Given the description of an element on the screen output the (x, y) to click on. 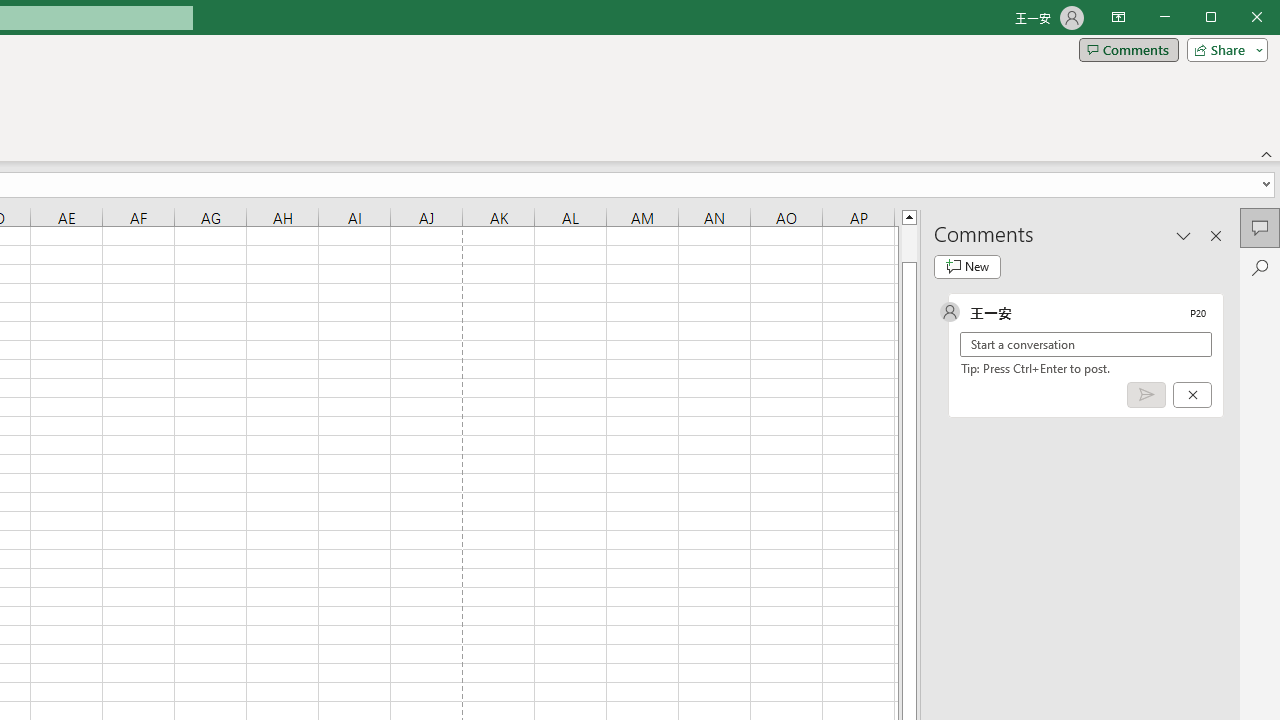
New comment (967, 266)
Search (1260, 267)
Page up (909, 243)
Maximize (1239, 18)
Task Pane Options (1183, 235)
Post comment (Ctrl + Enter) (1146, 395)
Start a conversation (1085, 344)
Cancel (1192, 395)
